Given the description of an element on the screen output the (x, y) to click on. 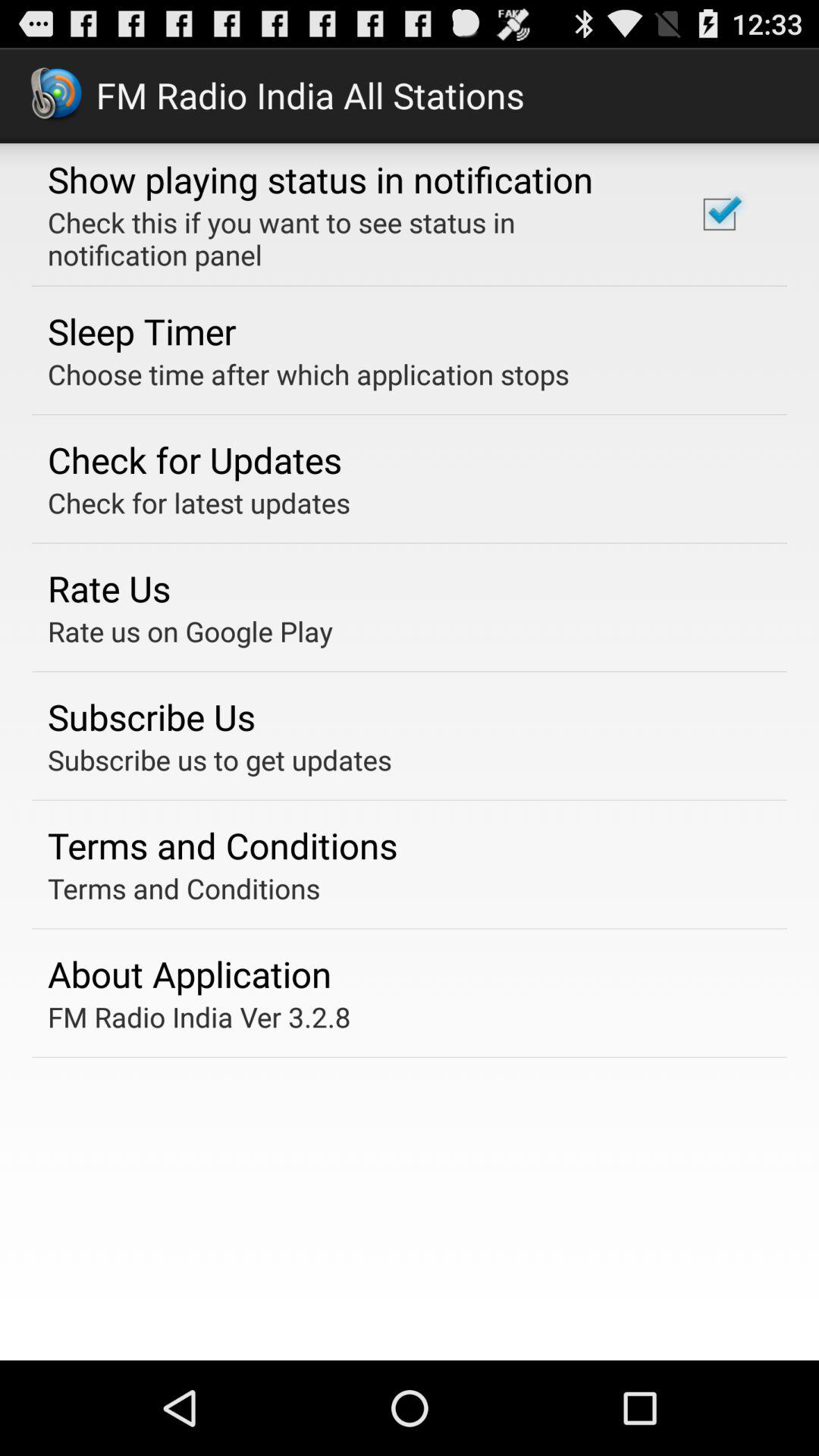
launch choose time after icon (308, 374)
